Given the description of an element on the screen output the (x, y) to click on. 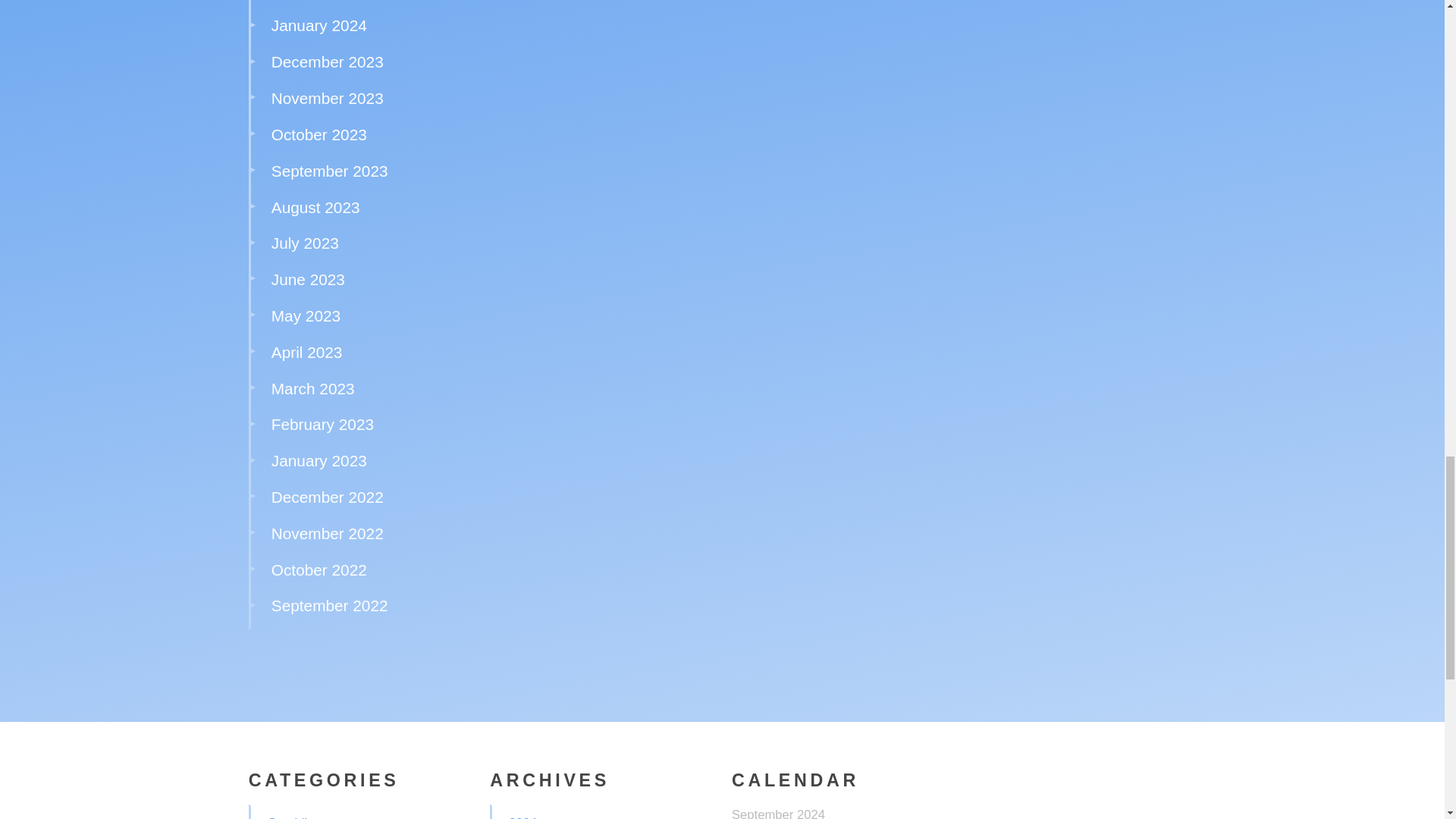
March 2023 (312, 388)
September 2022 (329, 605)
April 2023 (306, 352)
October 2022 (318, 569)
November 2023 (327, 98)
Gambling (293, 817)
May 2023 (305, 315)
January 2024 (318, 25)
August 2023 (314, 207)
January 2023 (318, 460)
